Given the description of an element on the screen output the (x, y) to click on. 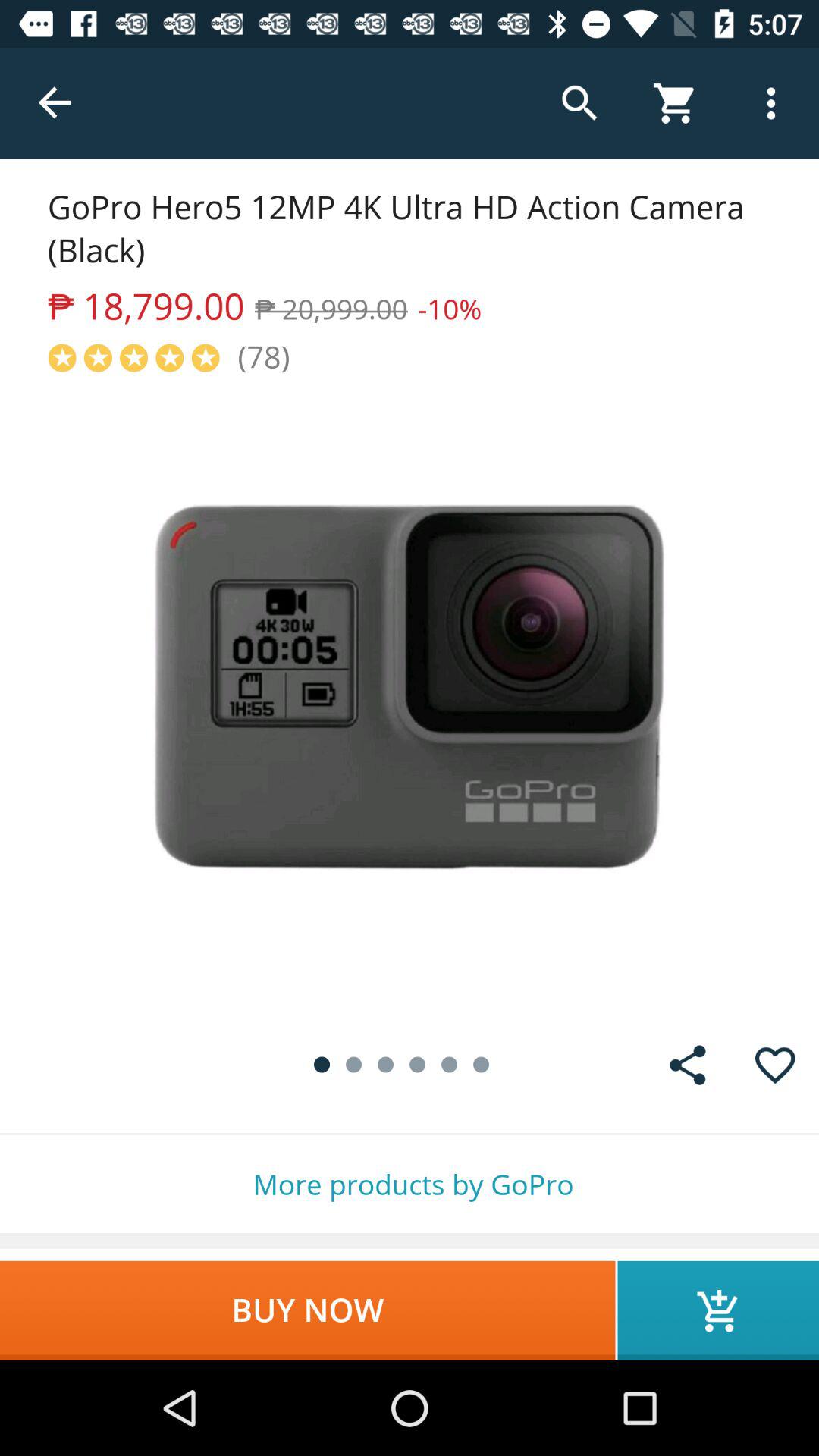
choose item above the buy now item (409, 1184)
